Given the description of an element on the screen output the (x, y) to click on. 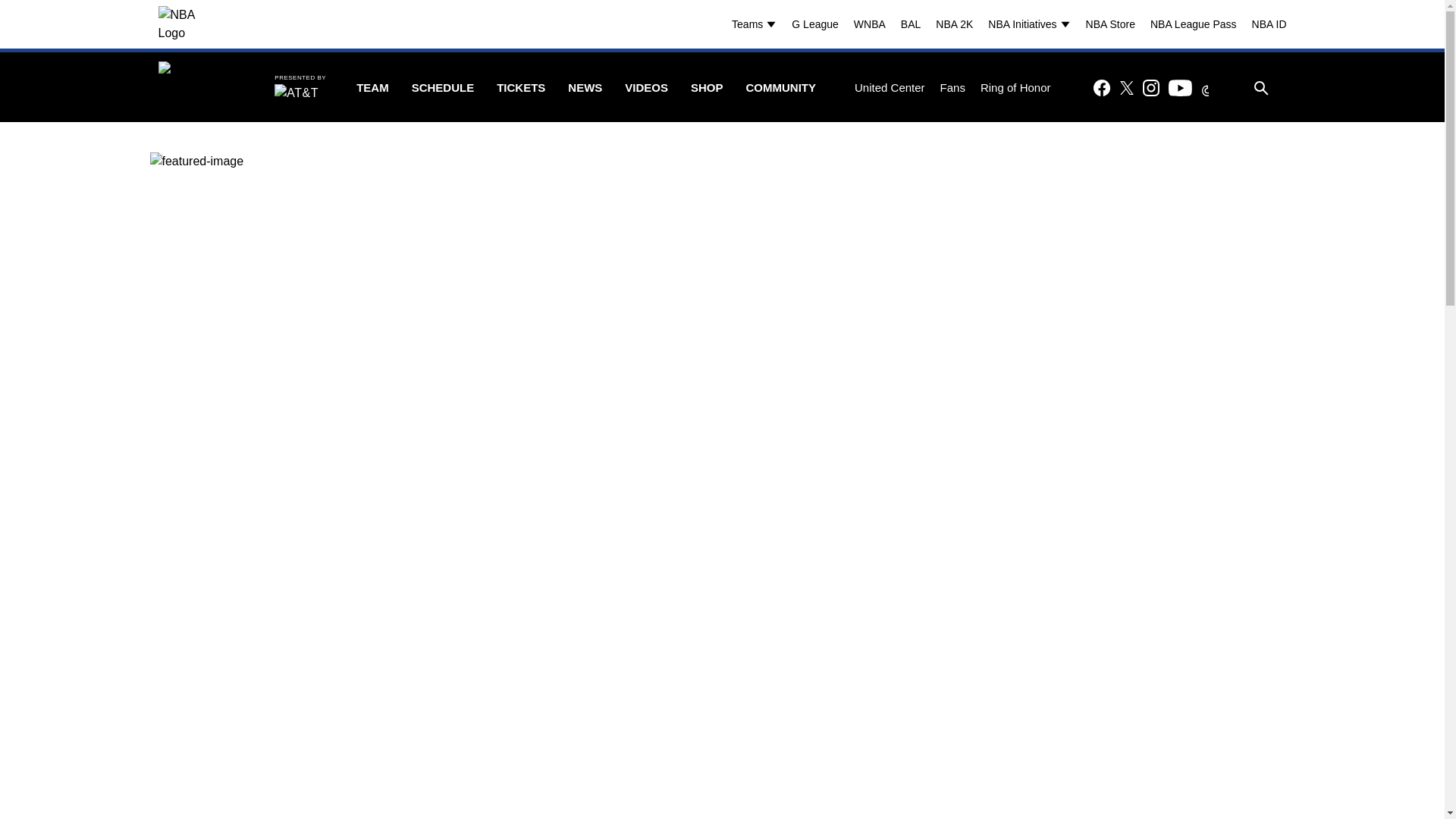
Home (200, 87)
Teams (759, 24)
G League (815, 24)
WNBA (869, 24)
NBA Initiatives (1033, 24)
NBA 2K (954, 24)
BAL (910, 24)
